Given the description of an element on the screen output the (x, y) to click on. 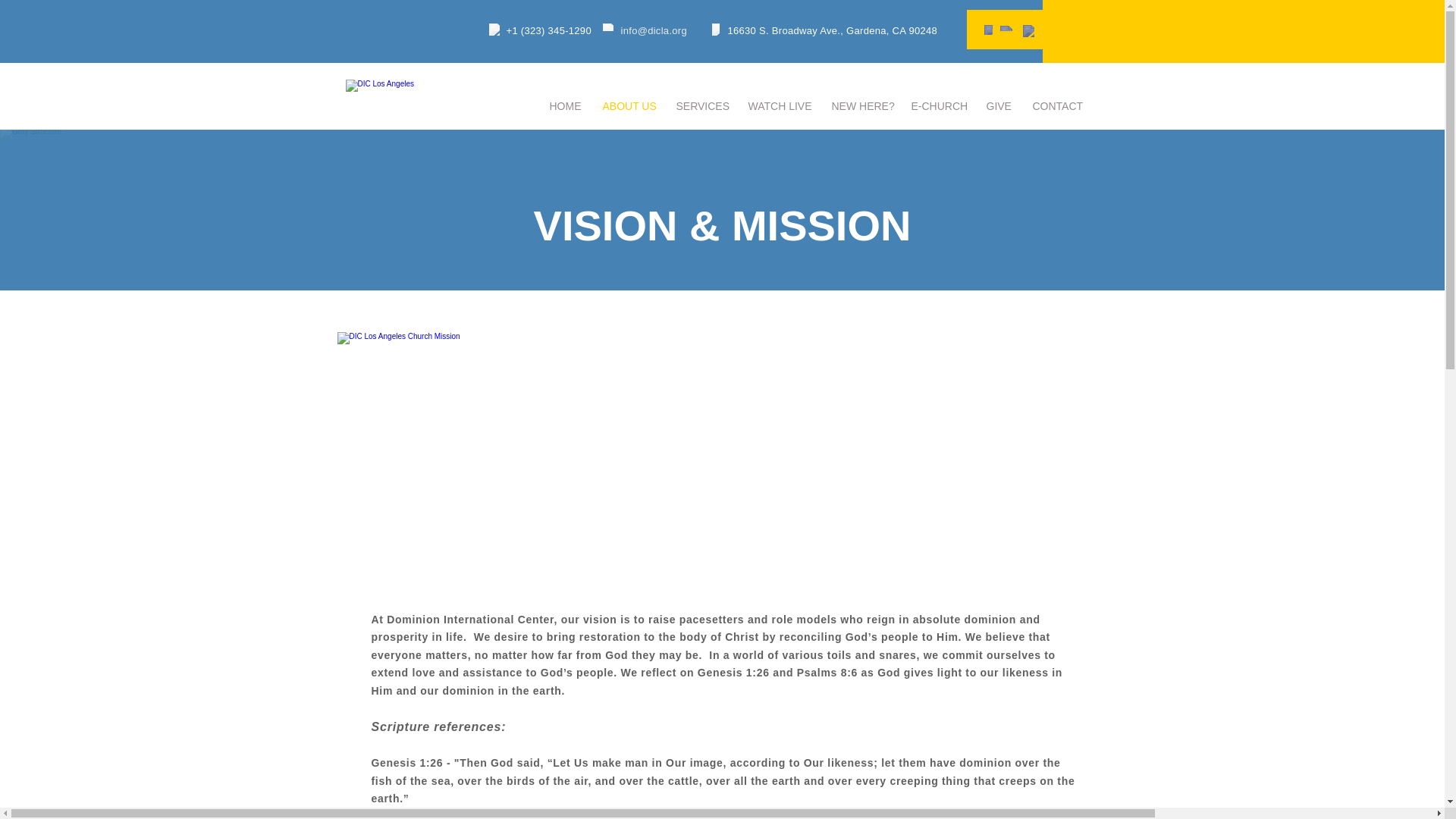
NEW HERE? (860, 106)
HOME (564, 106)
WATCH LIVE (778, 106)
E-CHURCH (936, 106)
GIVE (998, 106)
CONTACT (1056, 106)
SERVICES (699, 106)
ABOUT US (628, 106)
